Given the description of an element on the screen output the (x, y) to click on. 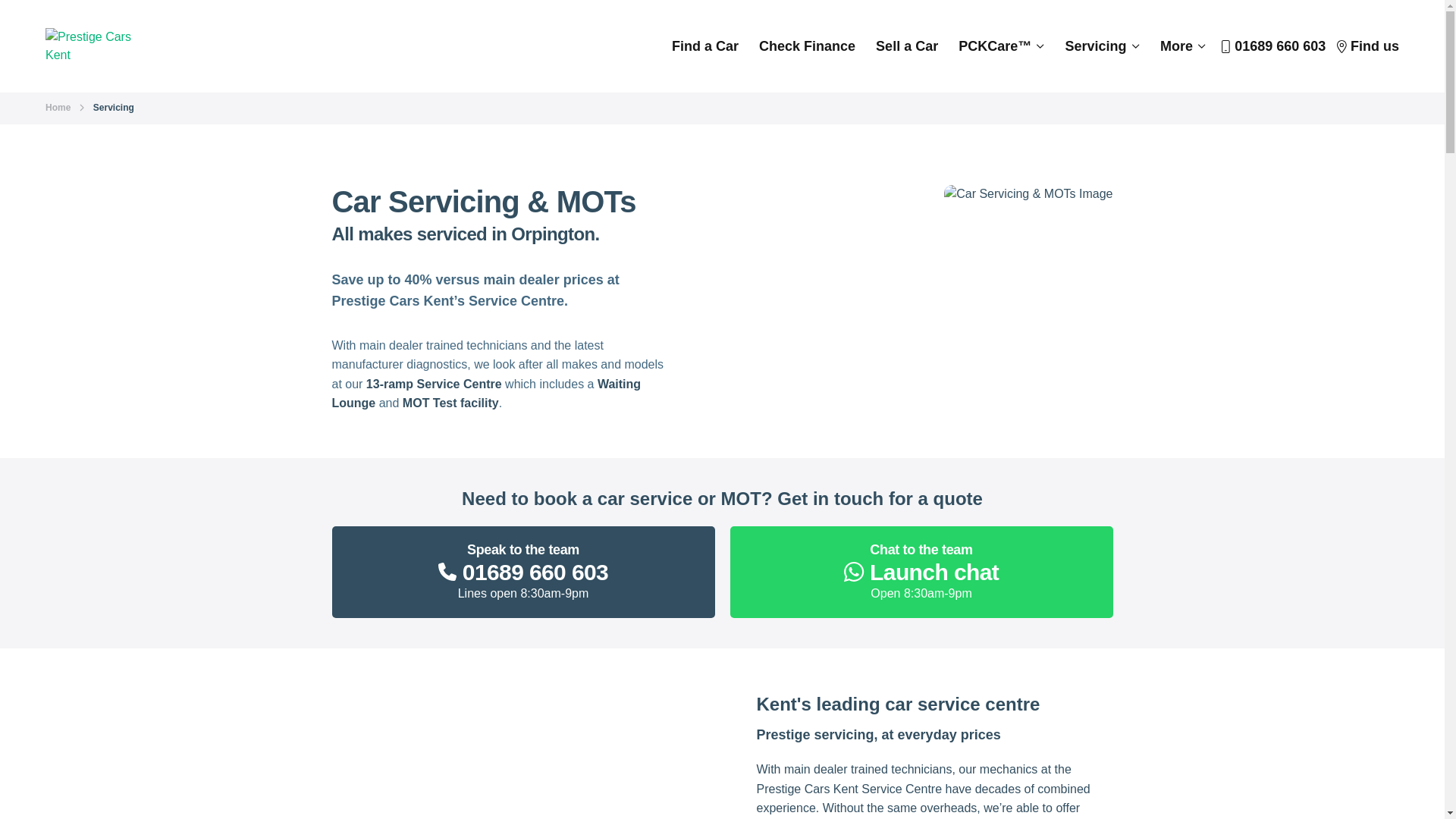
Home (57, 107)
Find us (1367, 45)
01689 660 603 (920, 571)
Sell a Car (1272, 45)
Servicing (523, 571)
Prestige Cars Kent (906, 45)
Servicing (1102, 45)
Check Finance (96, 45)
